Given the description of an element on the screen output the (x, y) to click on. 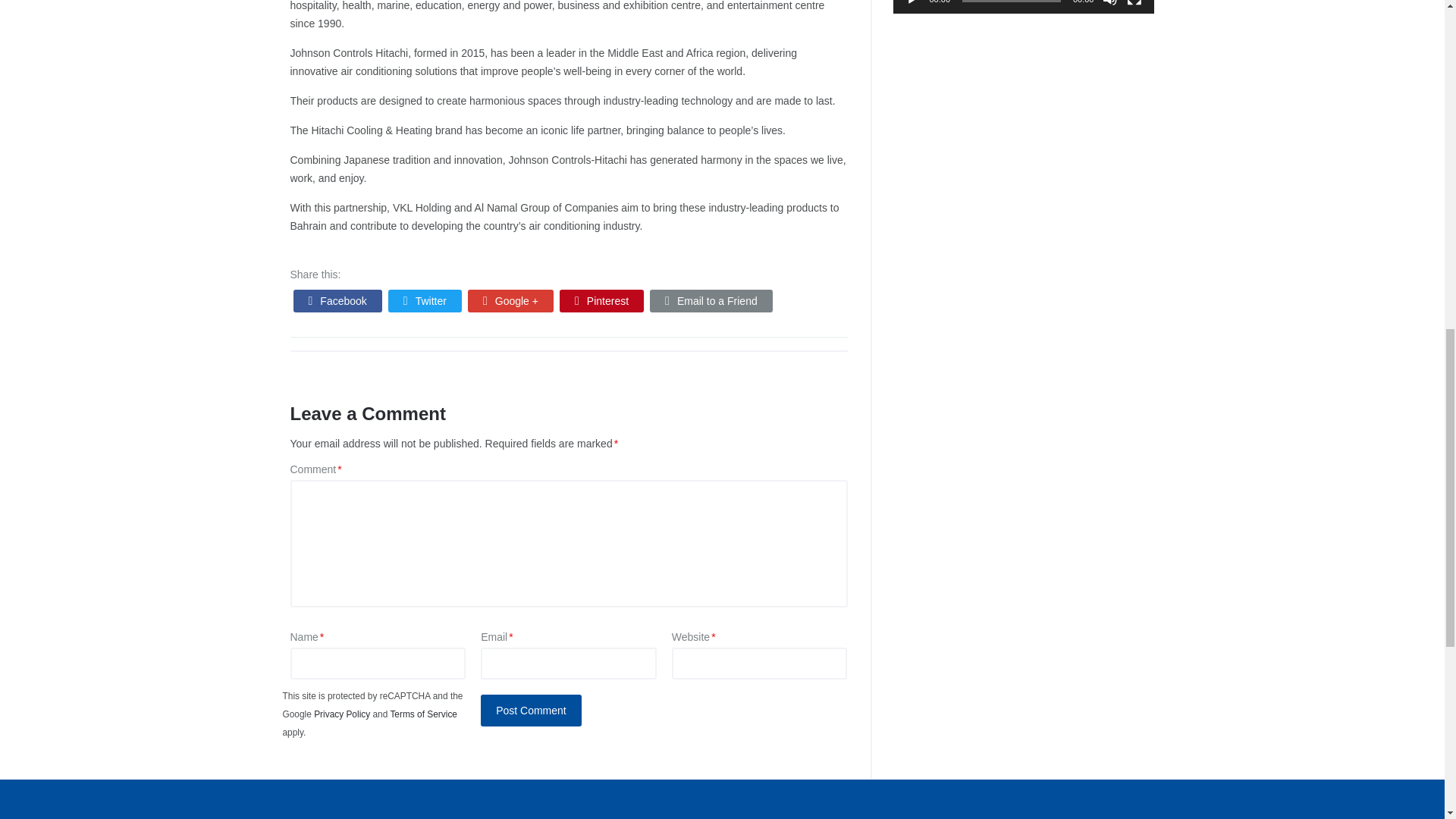
Pinterest (601, 300)
Email to a Friend (711, 300)
Facebook (336, 300)
Post Comment (530, 710)
Twitter (424, 300)
Play (912, 2)
